Given the description of an element on the screen output the (x, y) to click on. 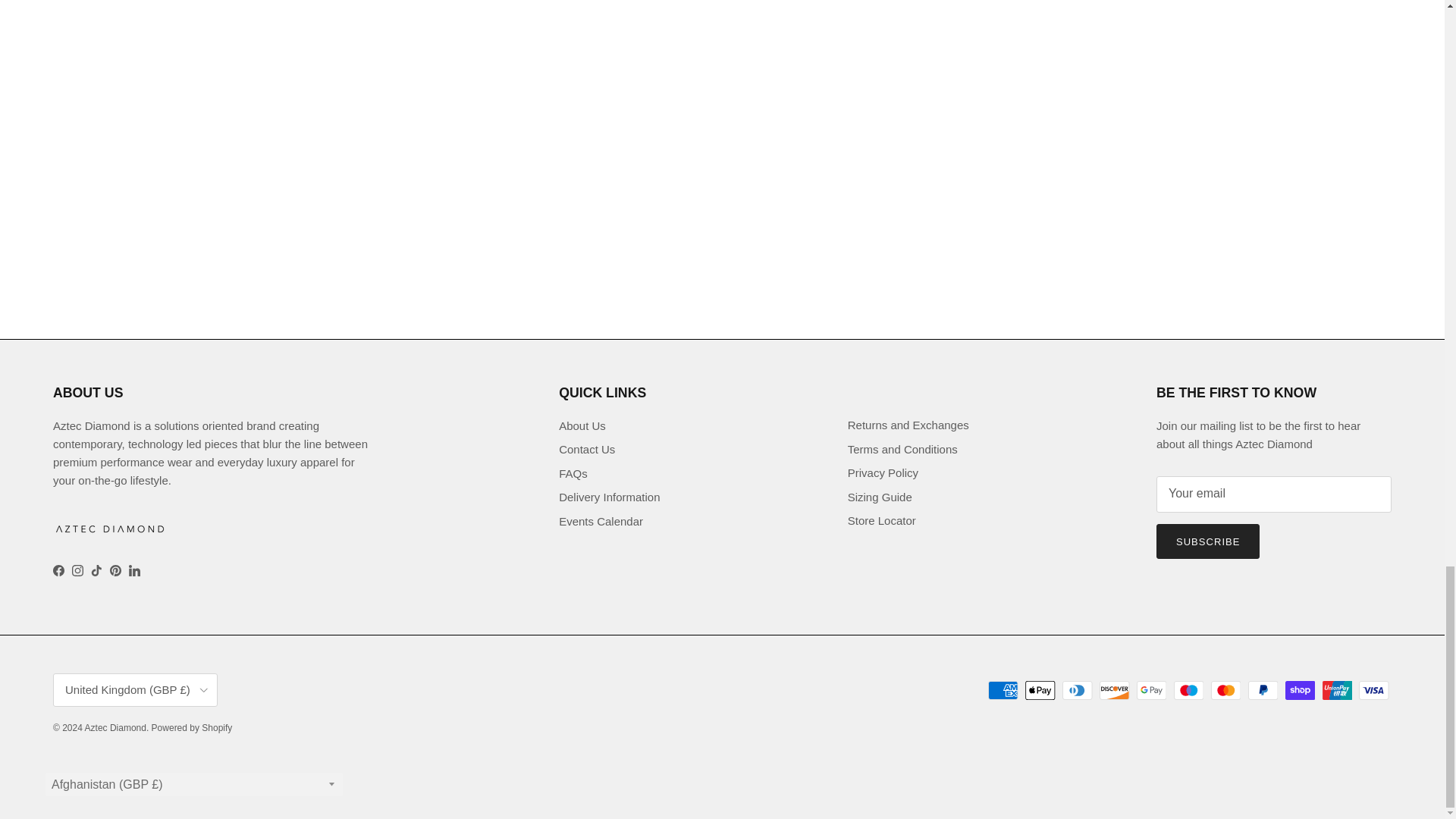
Aztec Diamond on LinkedIn (134, 570)
Aztec Diamond on Pinterest (115, 570)
Aztec Diamond on Facebook (58, 570)
Aztec Diamond on TikTok (95, 570)
Aztec Diamond on Instagram (76, 570)
